Given the description of an element on the screen output the (x, y) to click on. 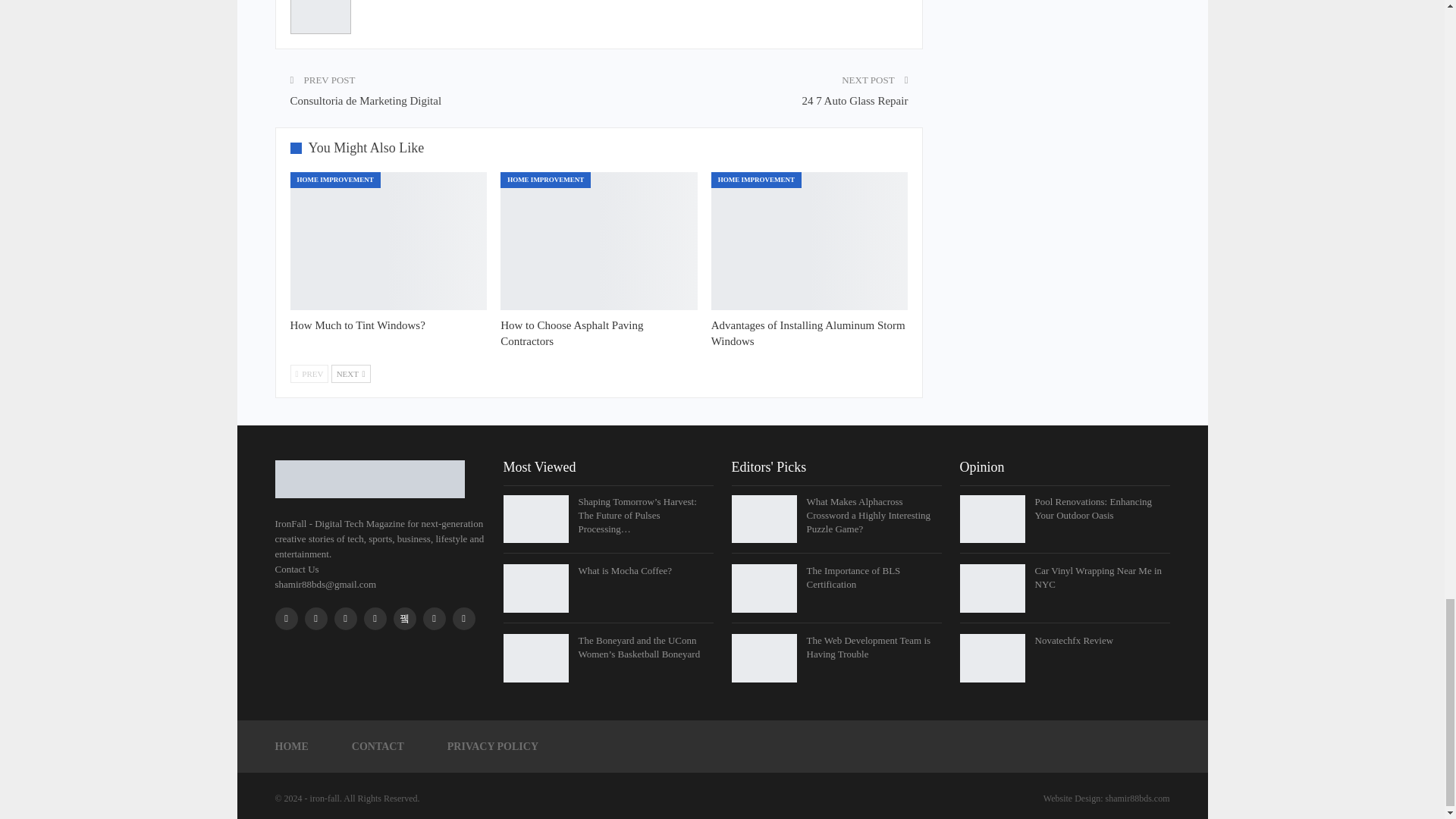
How Much to Tint Windows? (387, 240)
How Much to Tint Windows? (357, 325)
How to Choose Asphalt Paving Contractors (598, 240)
